Given the description of an element on the screen output the (x, y) to click on. 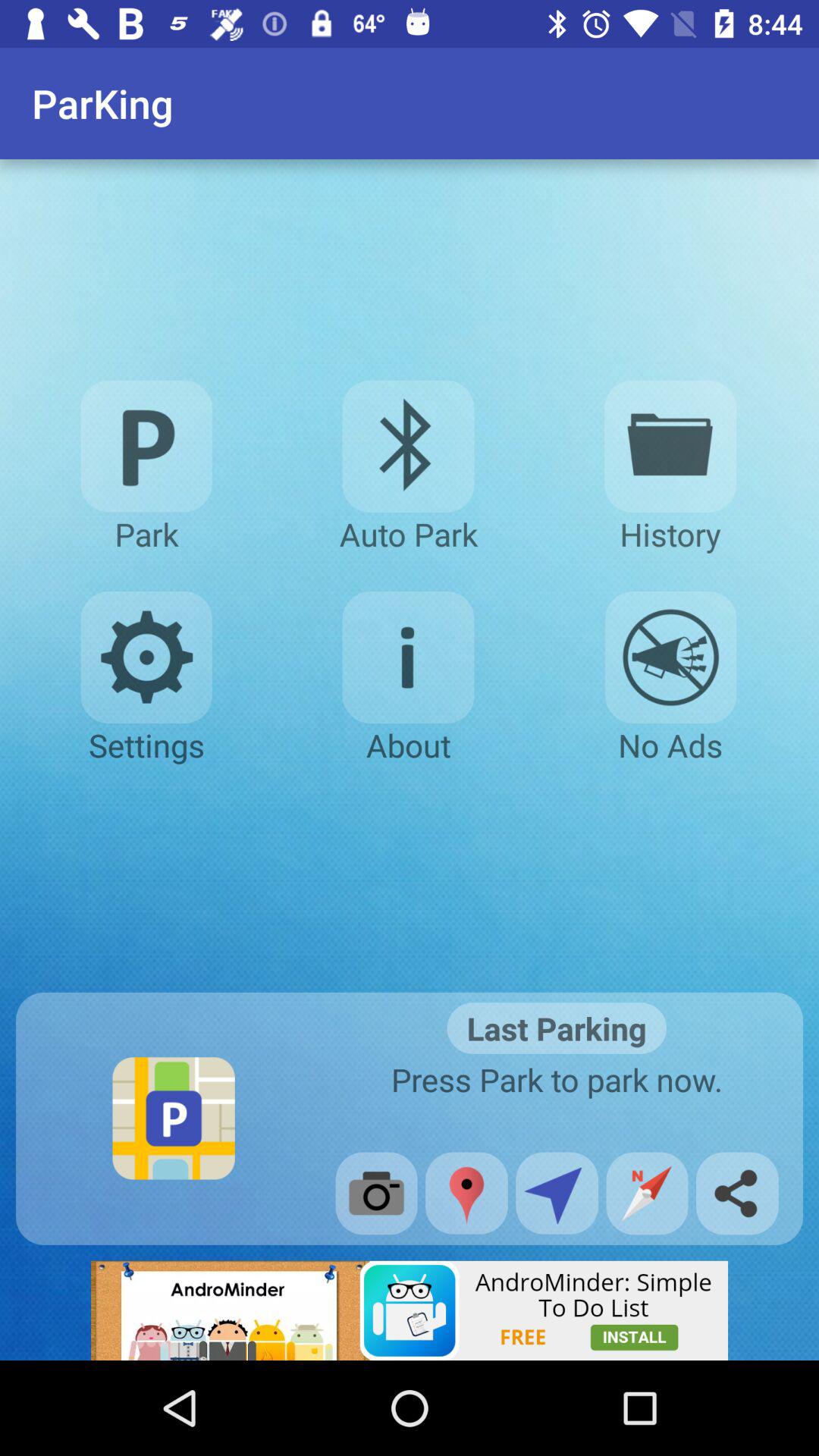
share to others (737, 1193)
